Given the description of an element on the screen output the (x, y) to click on. 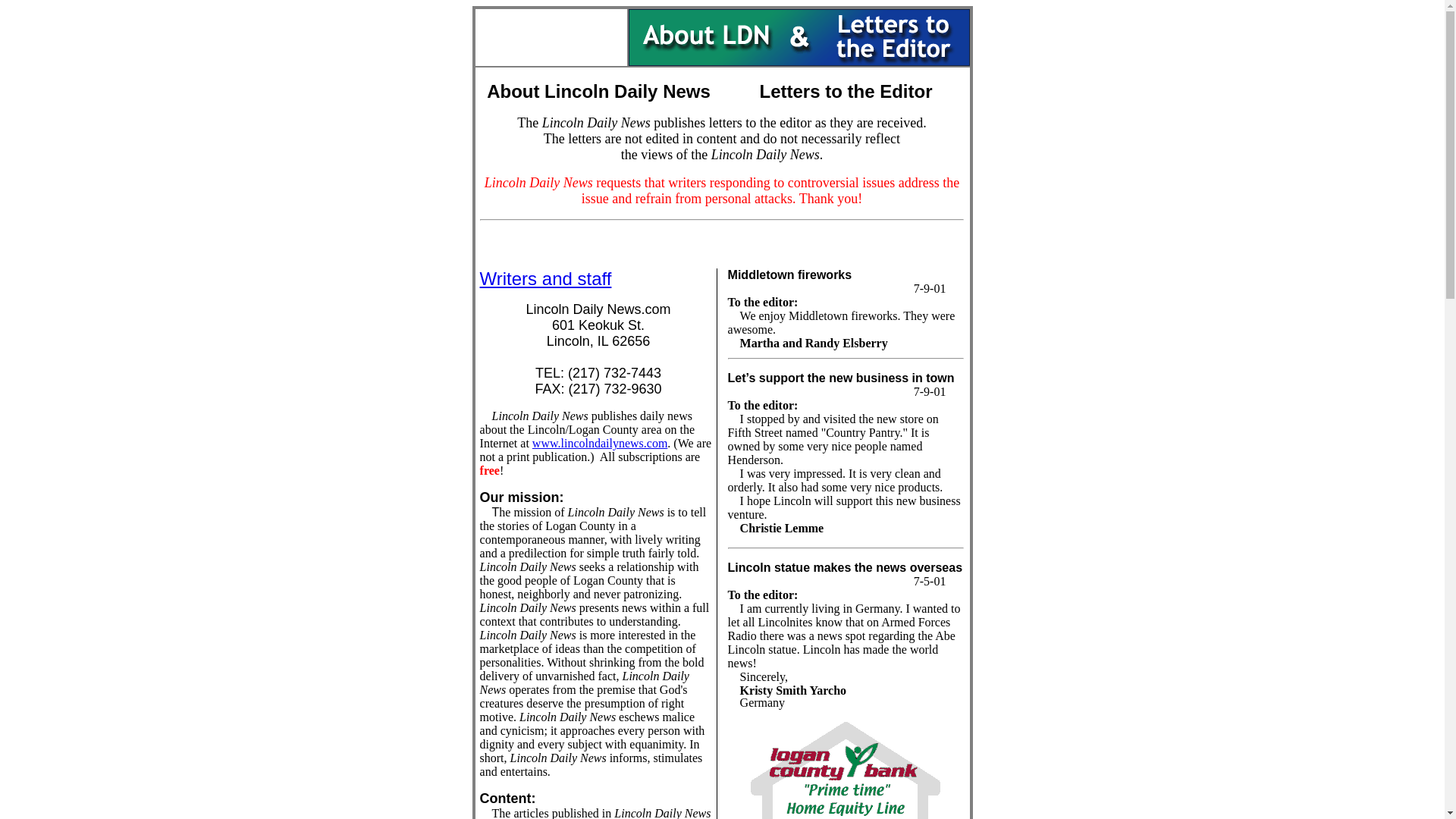
Writers and staff (545, 278)
Middletown fireworks (789, 274)
Lincoln statue makes the news overseas (845, 567)
www.lincolndailynews.com (599, 442)
